Given the description of an element on the screen output the (x, y) to click on. 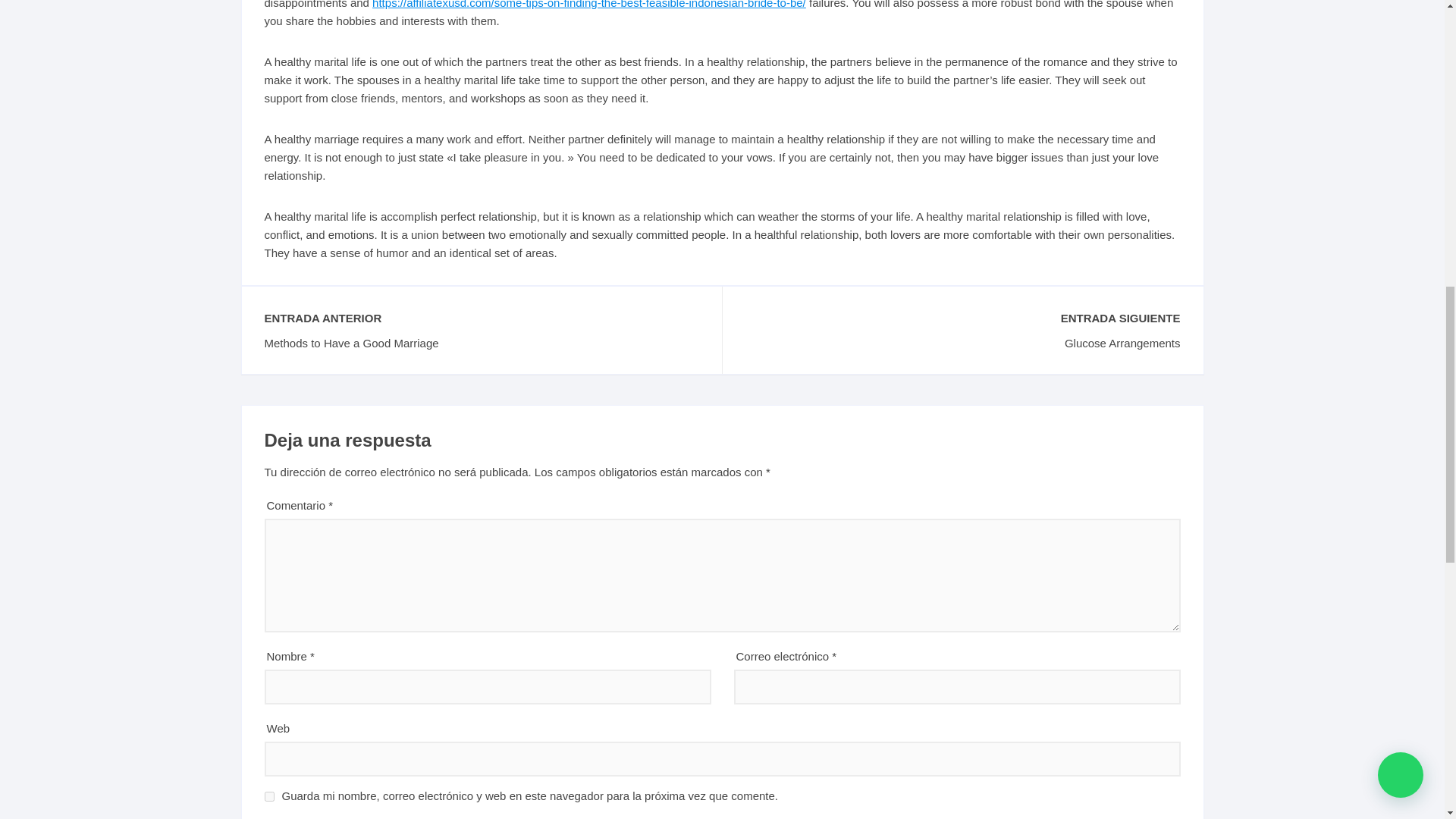
Methods to Have a Good Marriage (480, 342)
Glucose Arrangements (961, 342)
yes (268, 796)
